Given the description of an element on the screen output the (x, y) to click on. 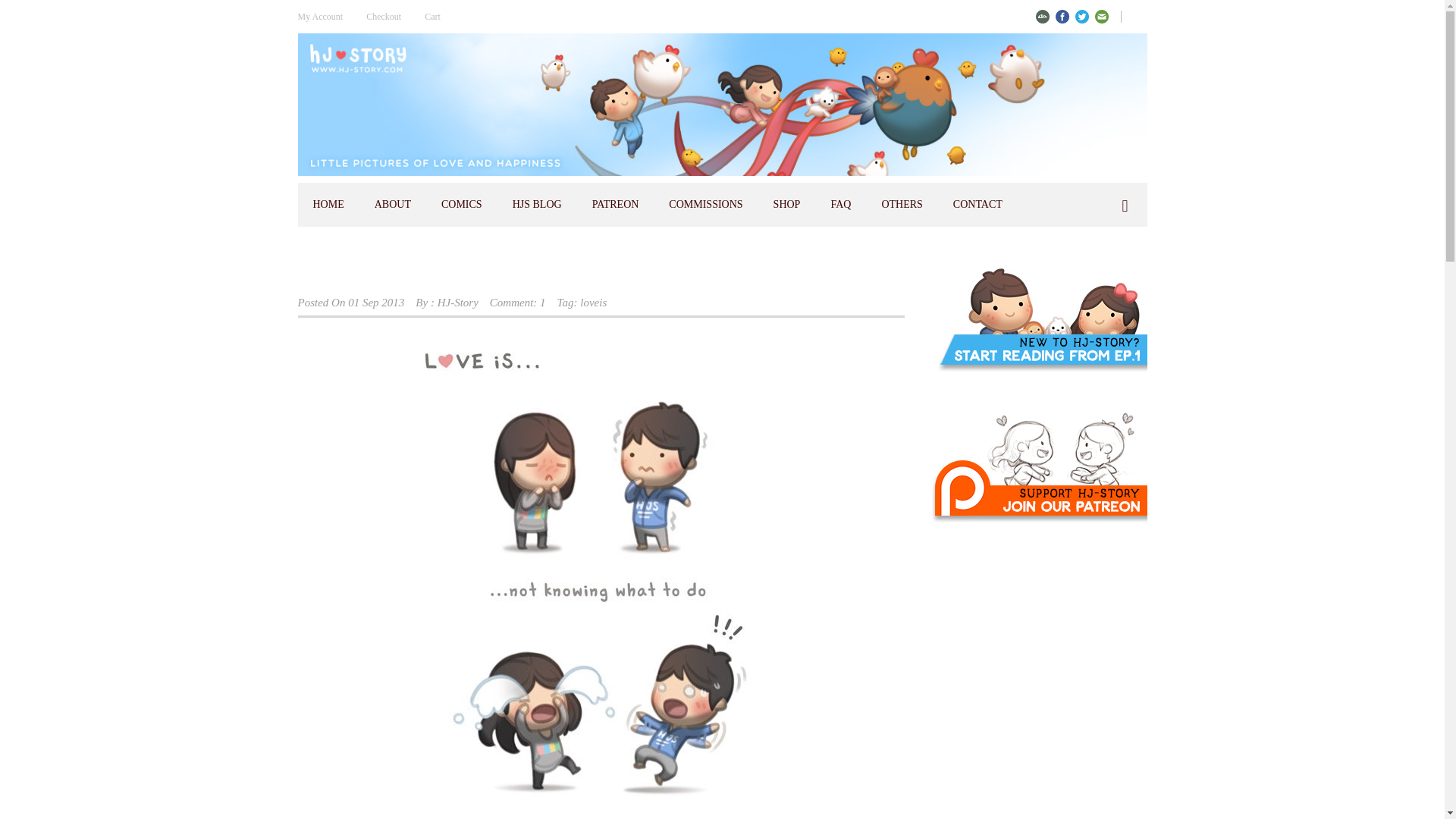
About HJS (392, 204)
Comment: 1 (517, 302)
Checkout (382, 16)
CONTACT (977, 204)
Cart (431, 16)
My Account (325, 16)
Posts by HJ-Story (458, 302)
COMMISSIONS (705, 204)
COMICS (461, 204)
HJ-Story (458, 302)
